Given the description of an element on the screen output the (x, y) to click on. 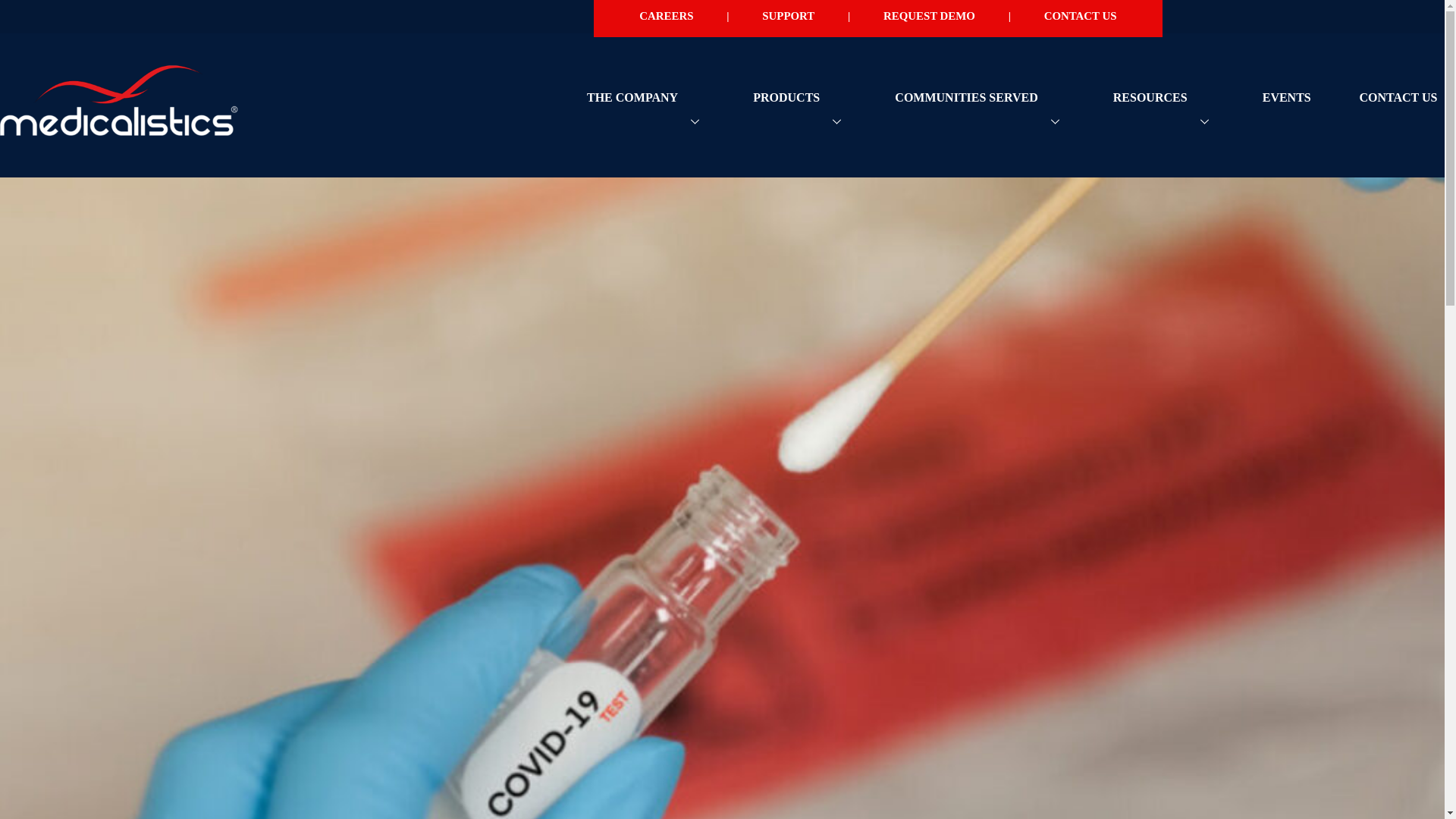
CONTACT US (1080, 18)
REQUEST DEMO (929, 18)
Medicalistics (119, 136)
THE COMPANY (645, 119)
RESOURCES (1163, 119)
CAREERS (665, 18)
COMMUNITIES SERVED (979, 119)
SUPPORT (788, 18)
PRODUCTS (799, 119)
